Given the description of an element on the screen output the (x, y) to click on. 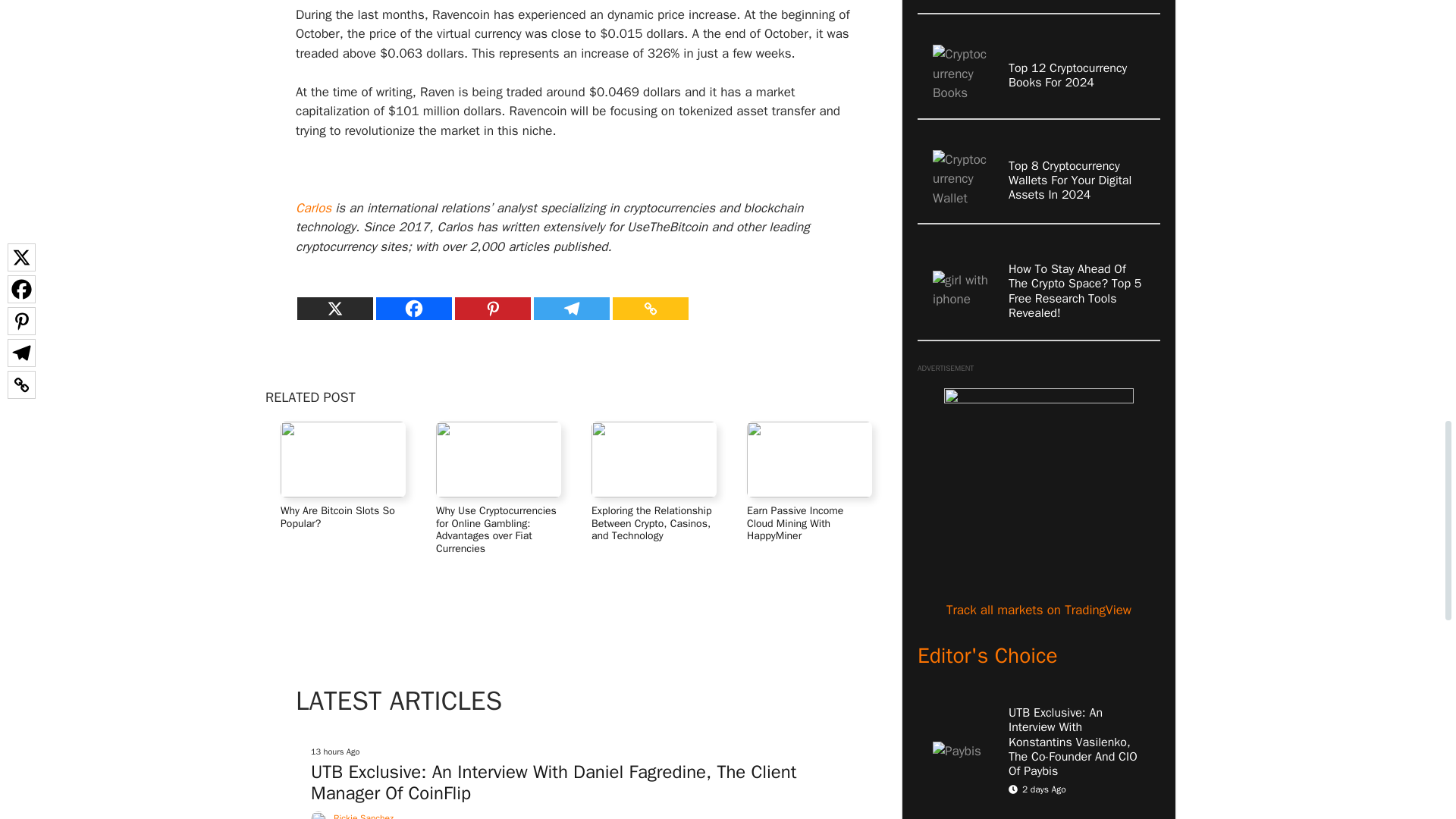
Facebook (413, 308)
X (334, 308)
Telegram (572, 308)
Pinterest (492, 308)
